Given the description of an element on the screen output the (x, y) to click on. 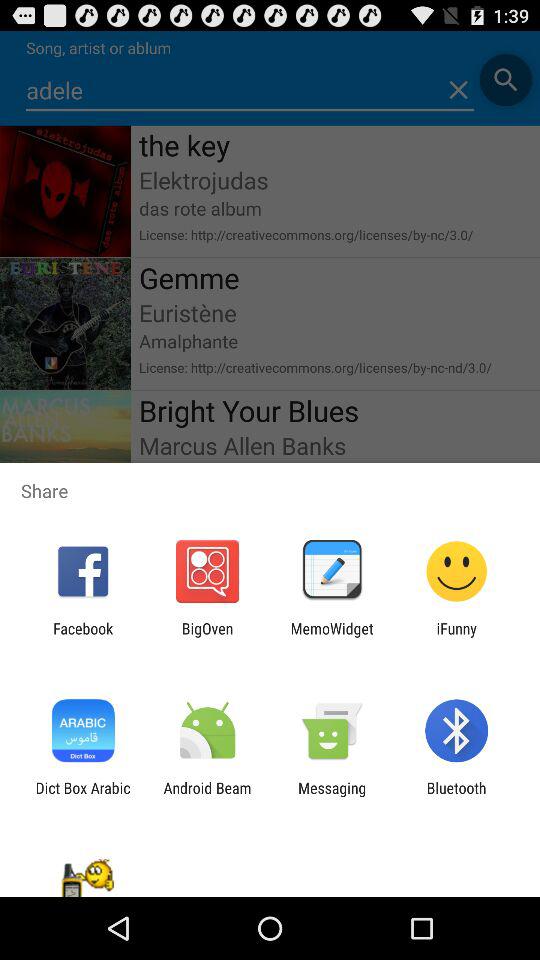
turn on app to the left of the ifunny item (331, 637)
